Given the description of an element on the screen output the (x, y) to click on. 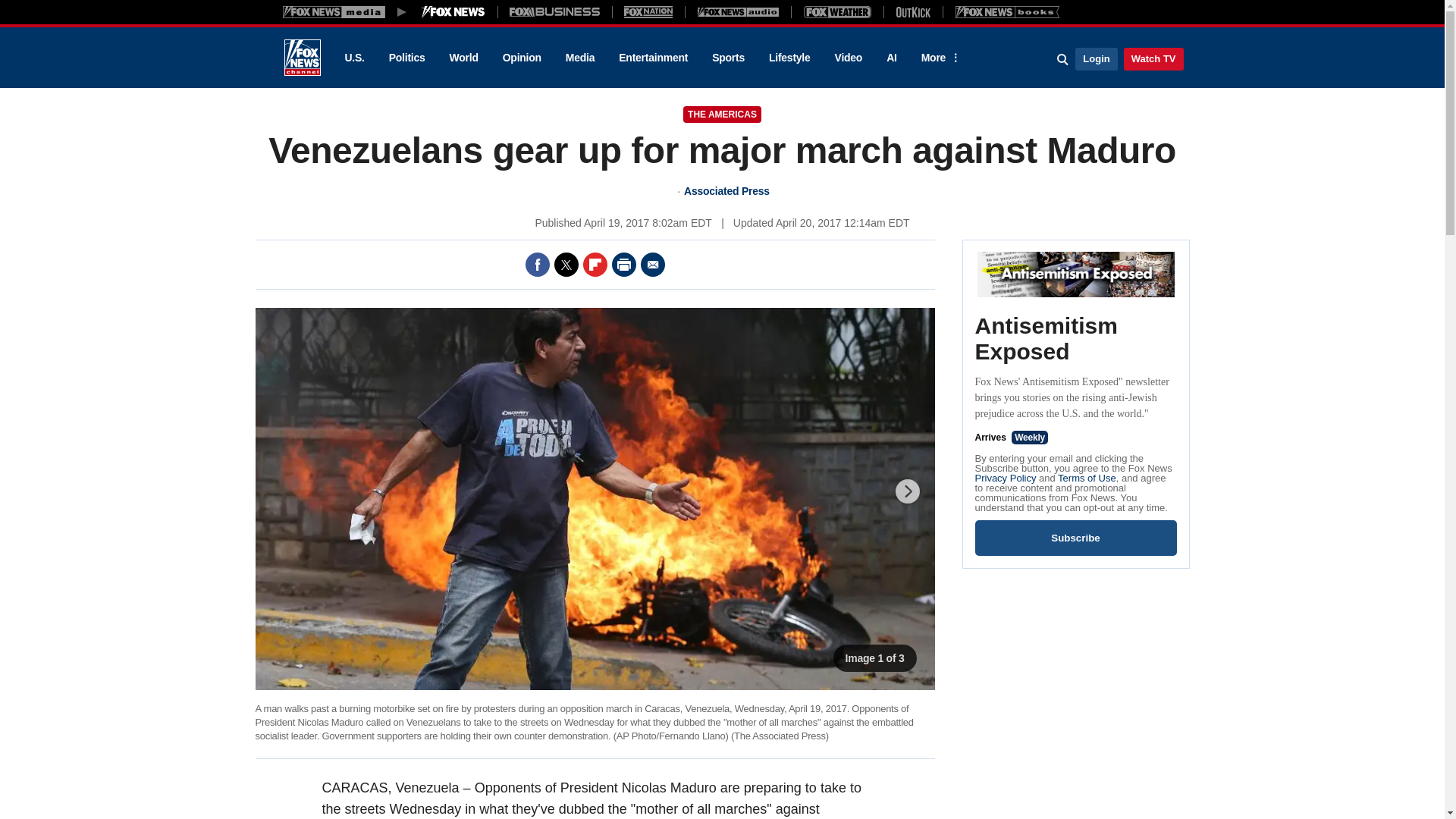
More (938, 57)
Outkick (912, 11)
Login (1095, 58)
Sports (728, 57)
Watch TV (1153, 58)
World (464, 57)
Opinion (521, 57)
Fox Nation (648, 11)
Books (1007, 11)
Lifestyle (789, 57)
